Given the description of an element on the screen output the (x, y) to click on. 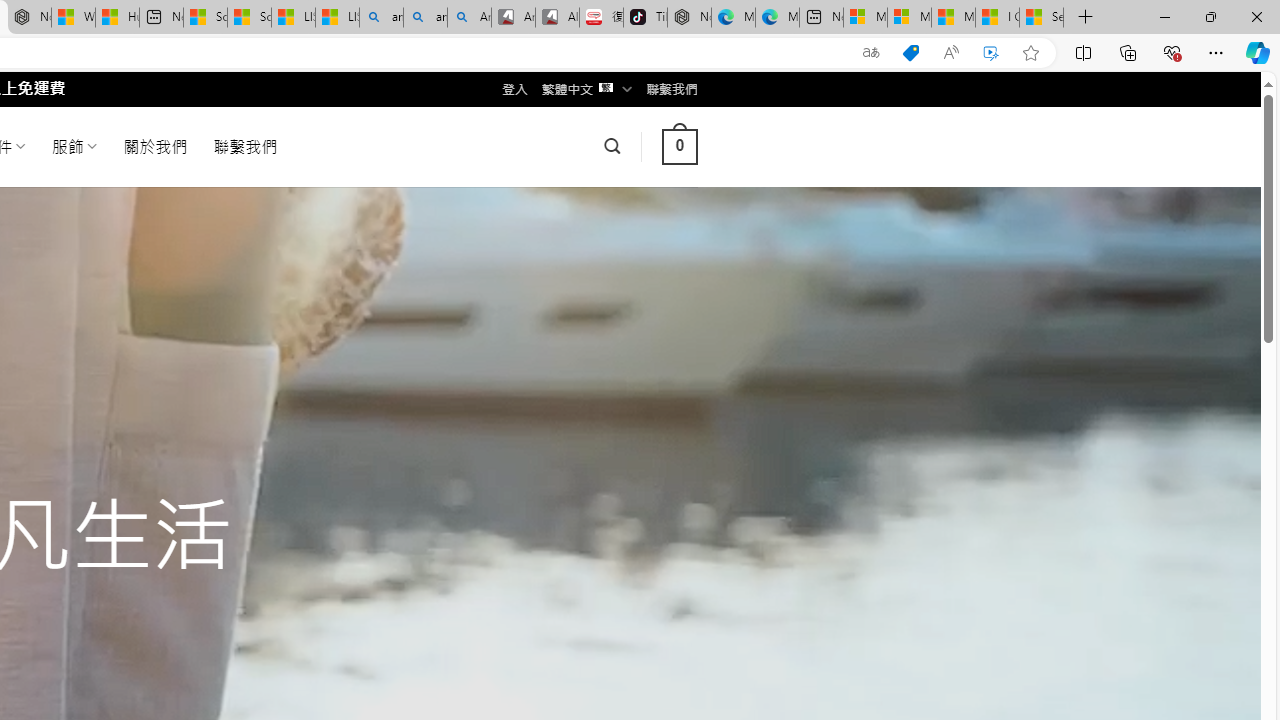
Huge shark washes ashore at New York City beach | Watch (117, 17)
I Gained 20 Pounds of Muscle in 30 Days! | Watch (996, 17)
